Given the description of an element on the screen output the (x, y) to click on. 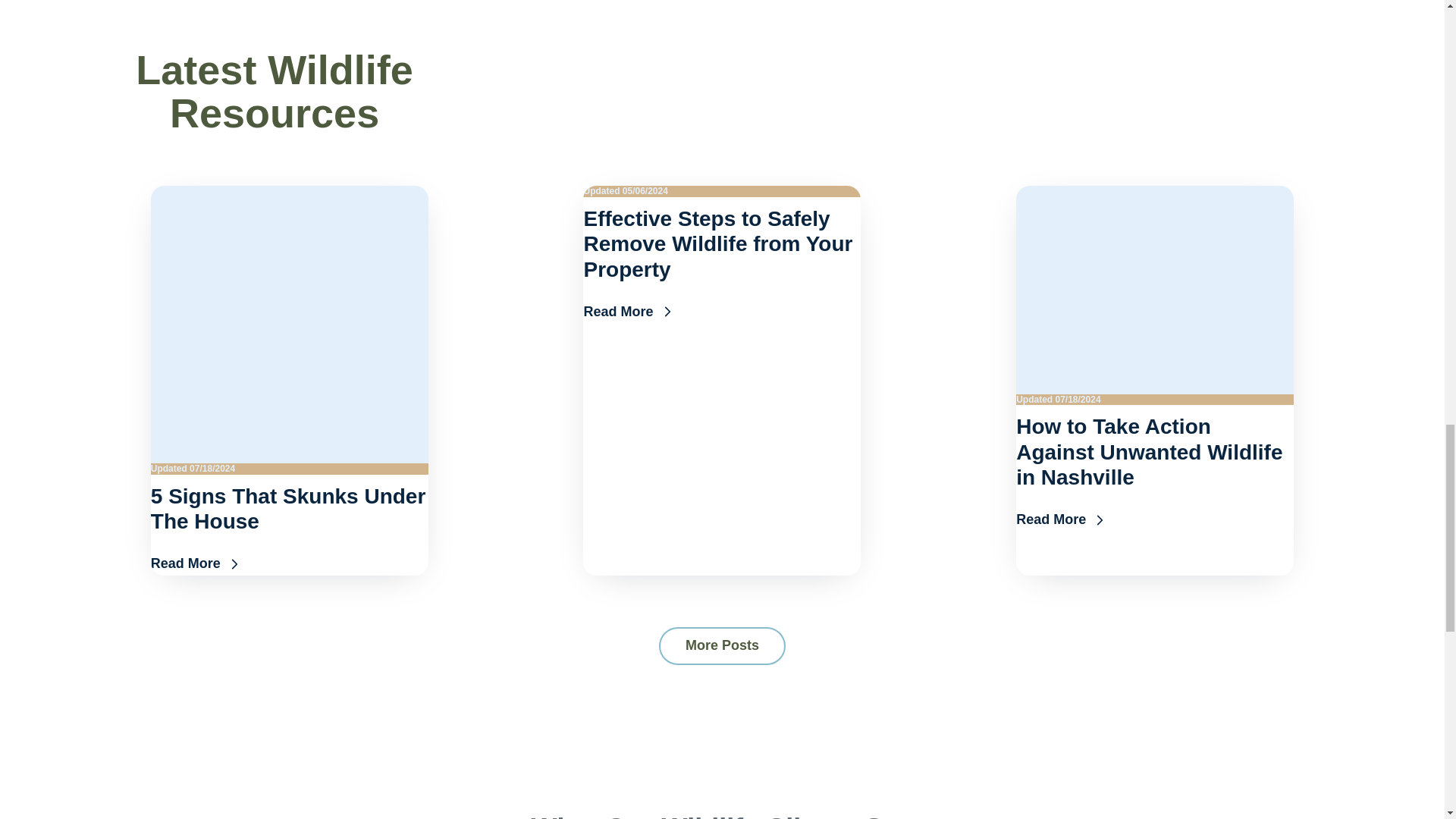
CAE5343E AFBD 41D7 815E 41254AC77038 (1155, 289)
More Posts (722, 646)
skunk removal charleston 1 (289, 324)
